Given the description of an element on the screen output the (x, y) to click on. 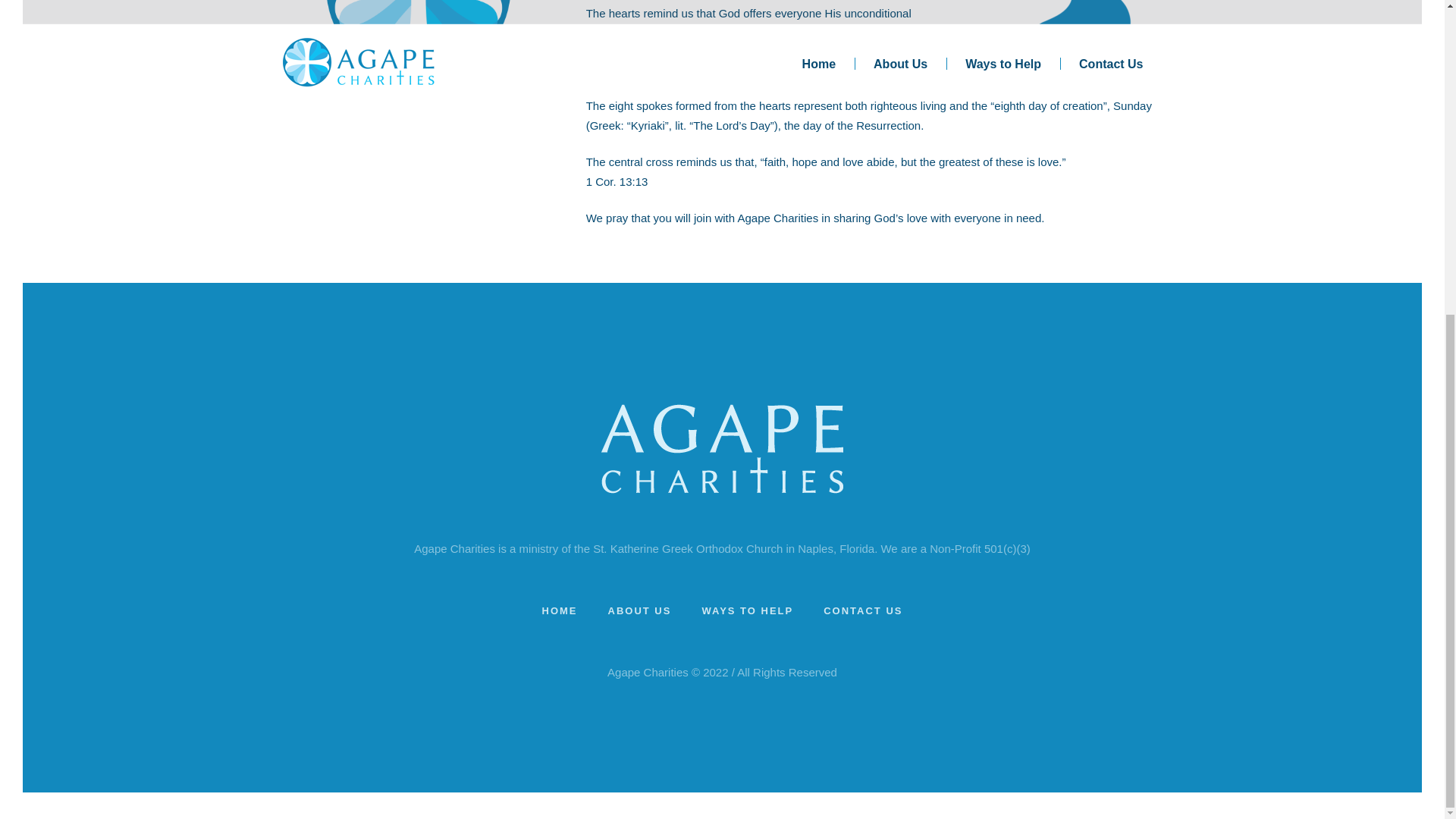
CONTACT US (863, 610)
Agape Charities (722, 448)
ABOUT US (639, 610)
WAYS TO HELP (747, 610)
HOME (559, 610)
